Given the description of an element on the screen output the (x, y) to click on. 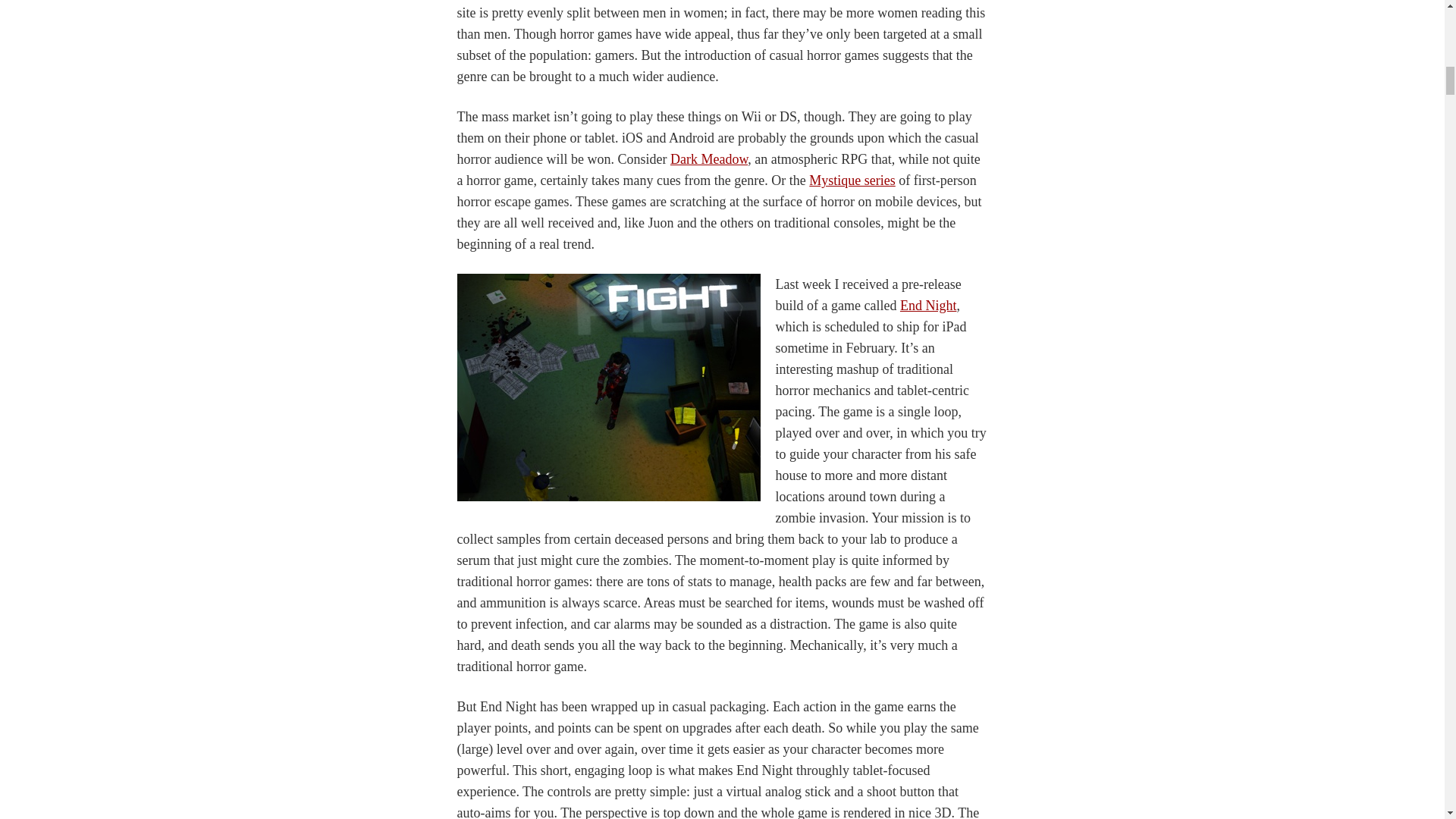
End Night (927, 305)
Dark Meadow (708, 159)
Mystique series (852, 180)
